Given the description of an element on the screen output the (x, y) to click on. 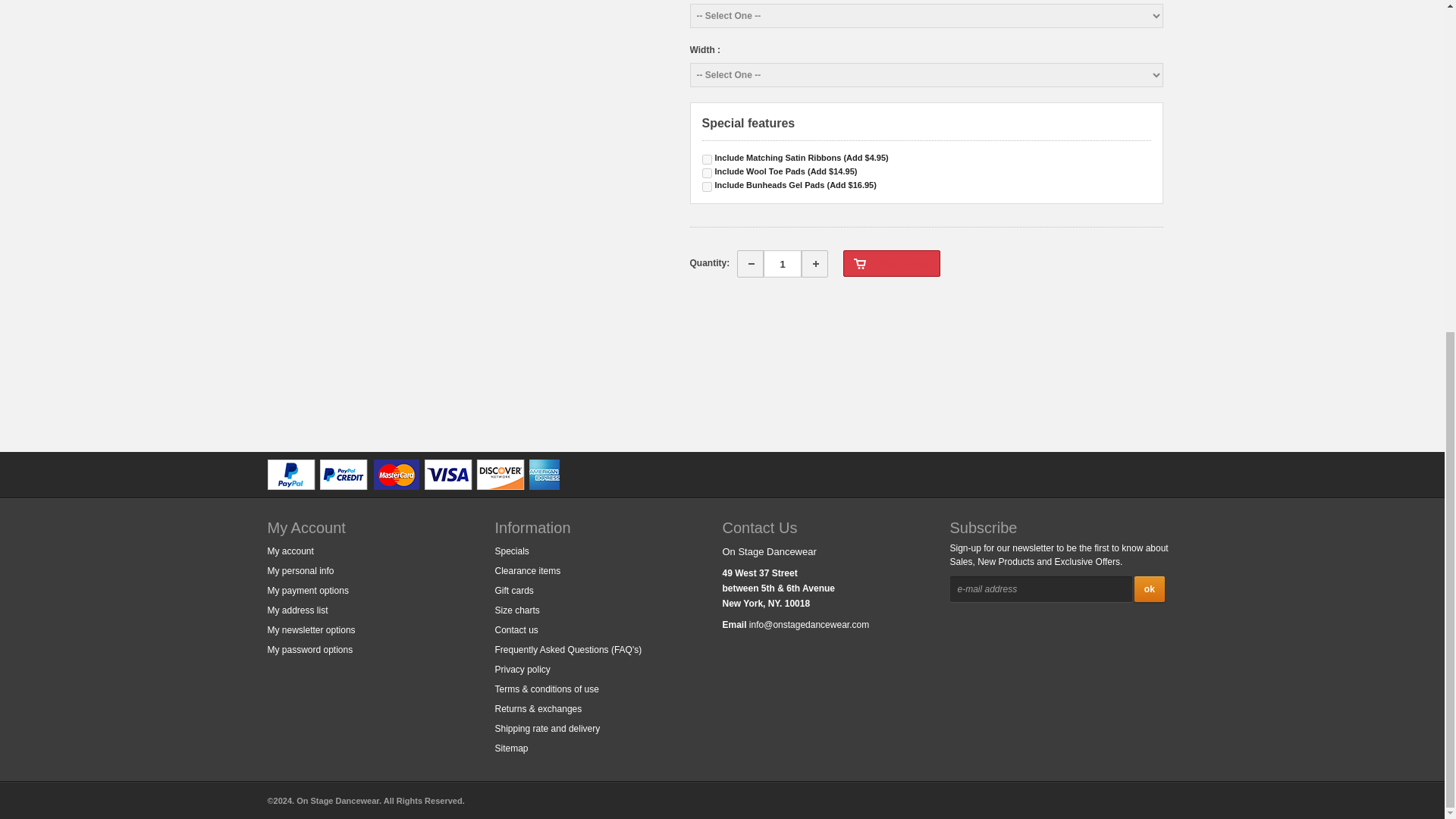
ok (1149, 588)
on (706, 186)
1 (782, 263)
My newsletter options (310, 630)
My personal info (299, 571)
Add to cart (891, 263)
on (706, 173)
My payment options (306, 590)
on (706, 159)
Contact us (516, 630)
